Given the description of an element on the screen output the (x, y) to click on. 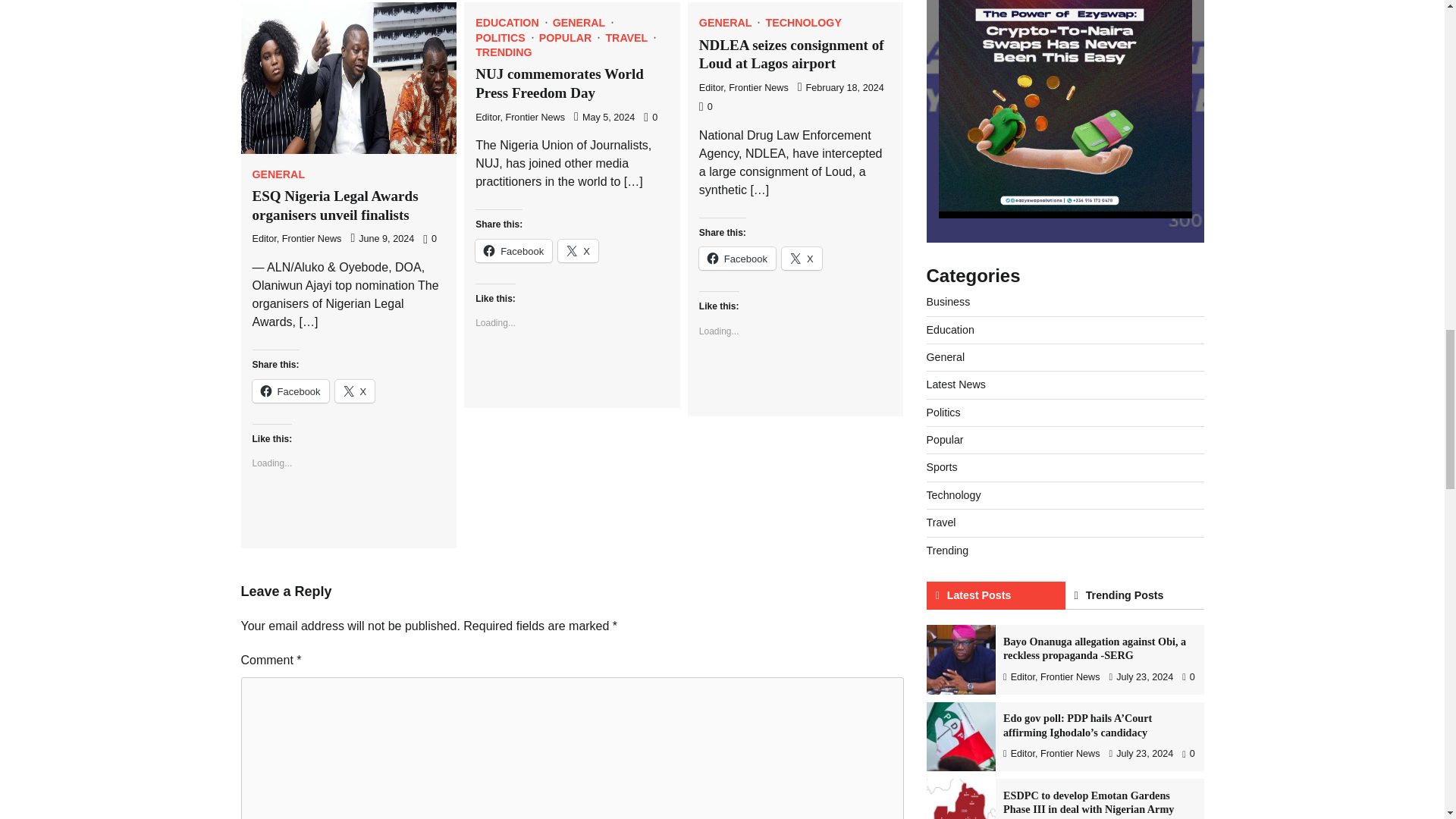
Like or Reblog (572, 375)
X (354, 391)
Click to share on X (577, 250)
ESQ Nigeria Legal Awards organisers unveil finalists (334, 205)
Click to share on X (801, 258)
GENERAL (277, 173)
Click to share on Facebook (513, 250)
Like or Reblog (348, 516)
Click to share on X (354, 391)
Click to share on Facebook (290, 391)
Facebook (290, 391)
Editor, Frontier News (295, 238)
Click to share on Facebook (737, 258)
